Given the description of an element on the screen output the (x, y) to click on. 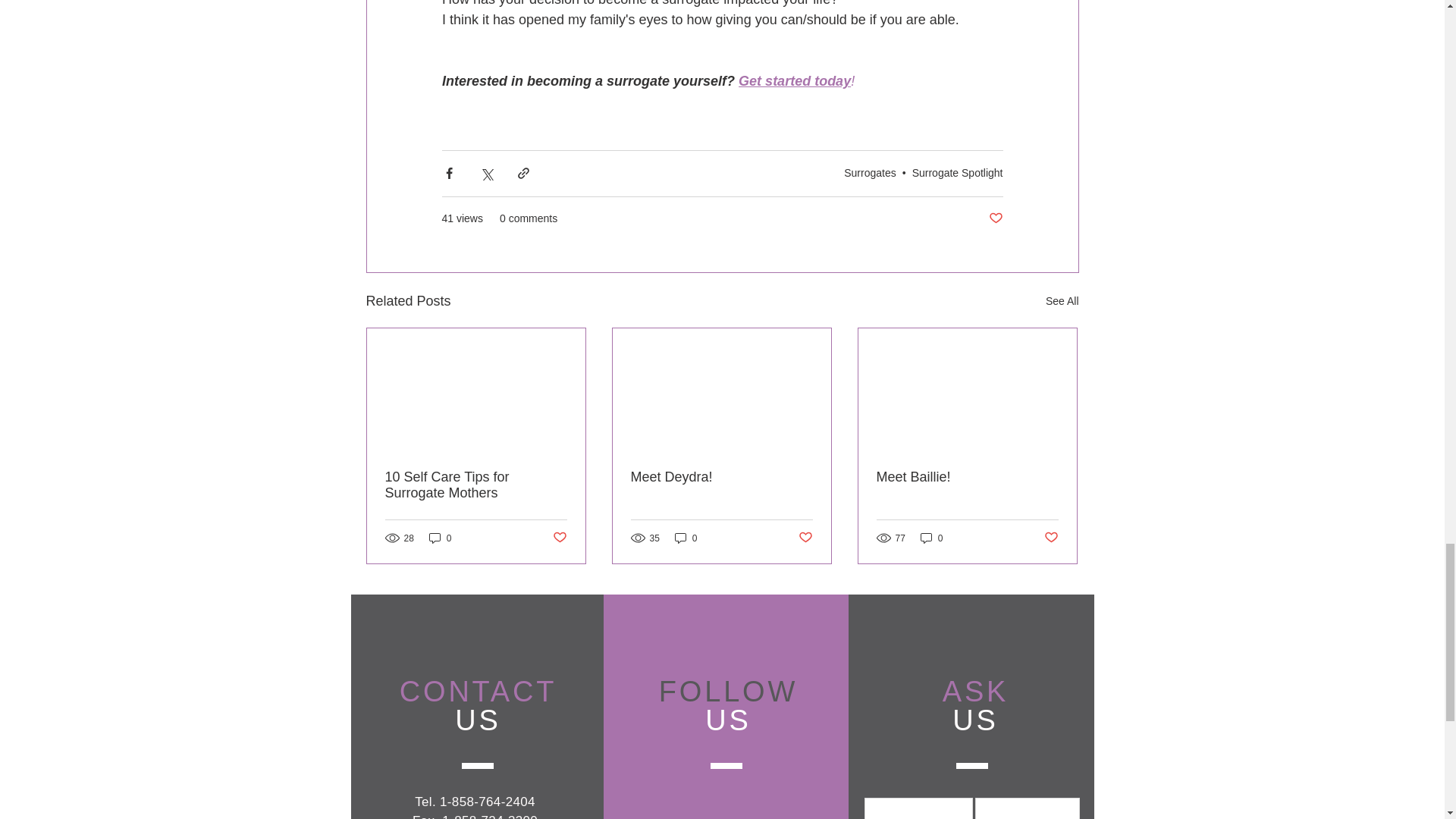
Post not marked as liked (995, 218)
Post not marked as liked (558, 537)
0 (440, 537)
Surrogates (869, 173)
See All (1061, 301)
10 Self Care Tips for Surrogate Mothers (476, 485)
Get started today (794, 80)
Surrogate Spotlight (957, 173)
Meet Deydra! (721, 477)
0 (685, 537)
Post not marked as liked (804, 537)
